Given the description of an element on the screen output the (x, y) to click on. 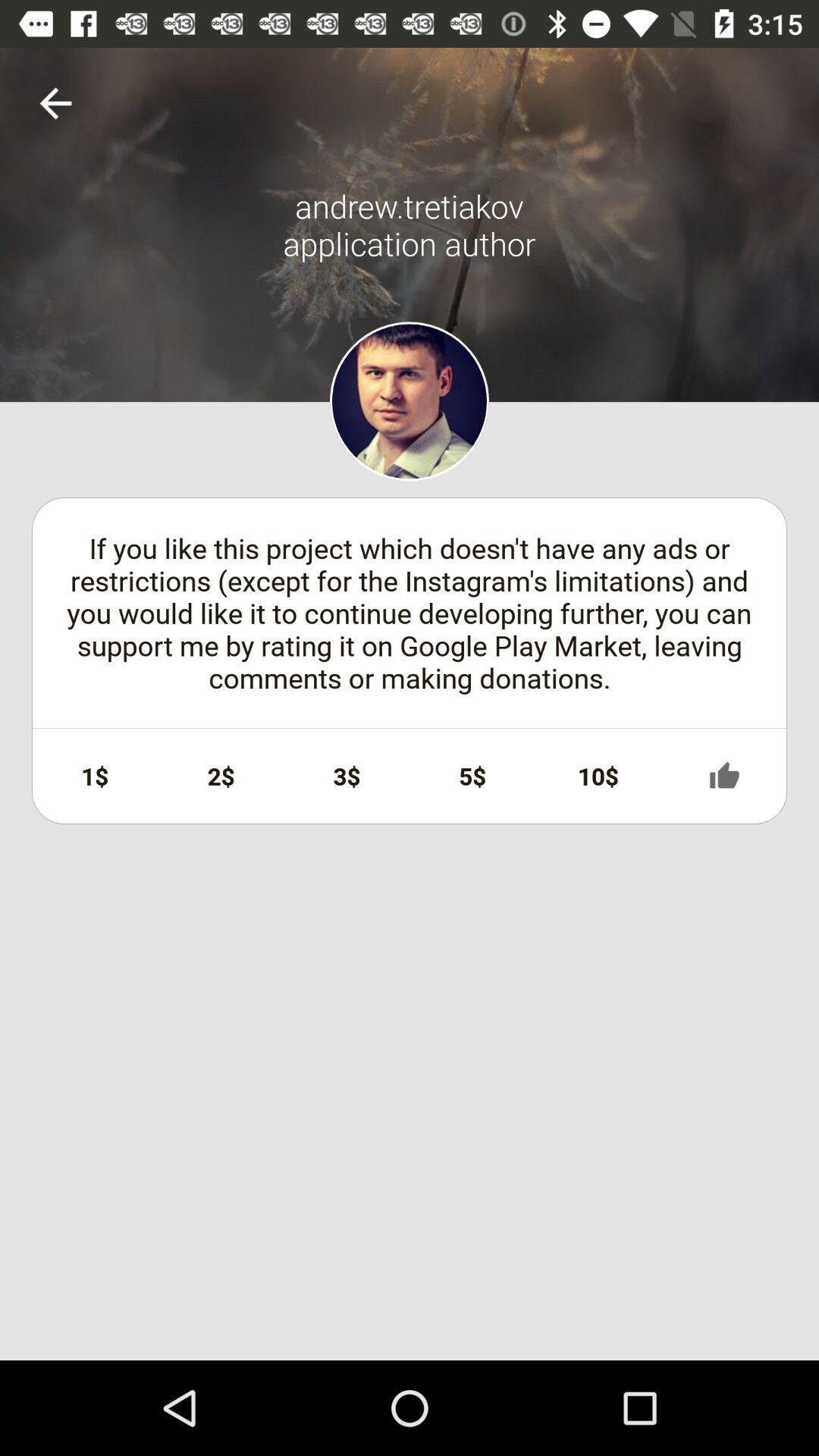
press the 1$ icon (94, 776)
